Given the description of an element on the screen output the (x, y) to click on. 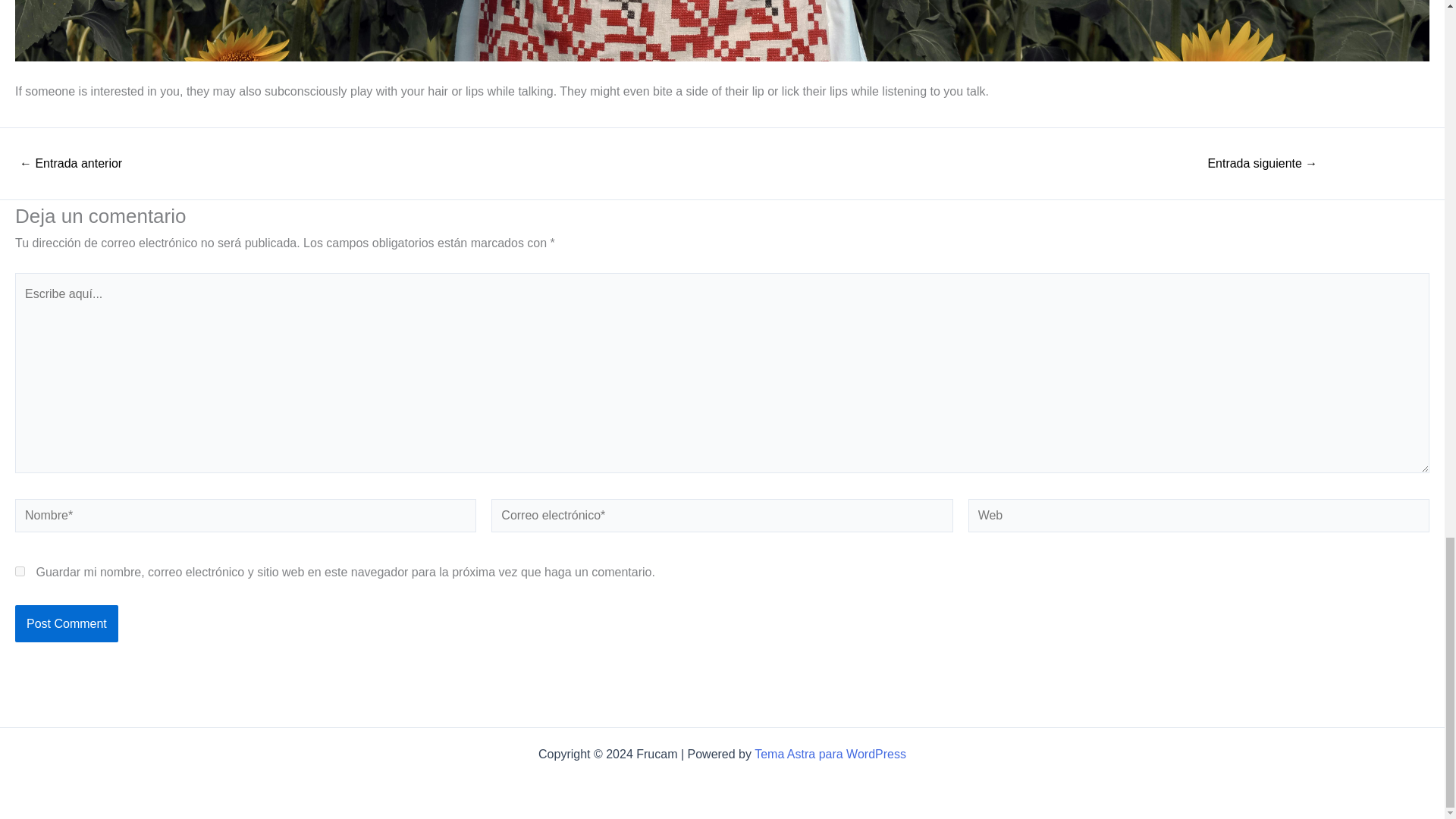
Post Comment (65, 623)
yes (19, 571)
Post Comment (65, 623)
The Pokies.web Assessment (1261, 163)
Avoid Stereotypes in Dating Latinas: Avoid Stereotypes (70, 163)
Tema Astra para WordPress (829, 753)
